Given the description of an element on the screen output the (x, y) to click on. 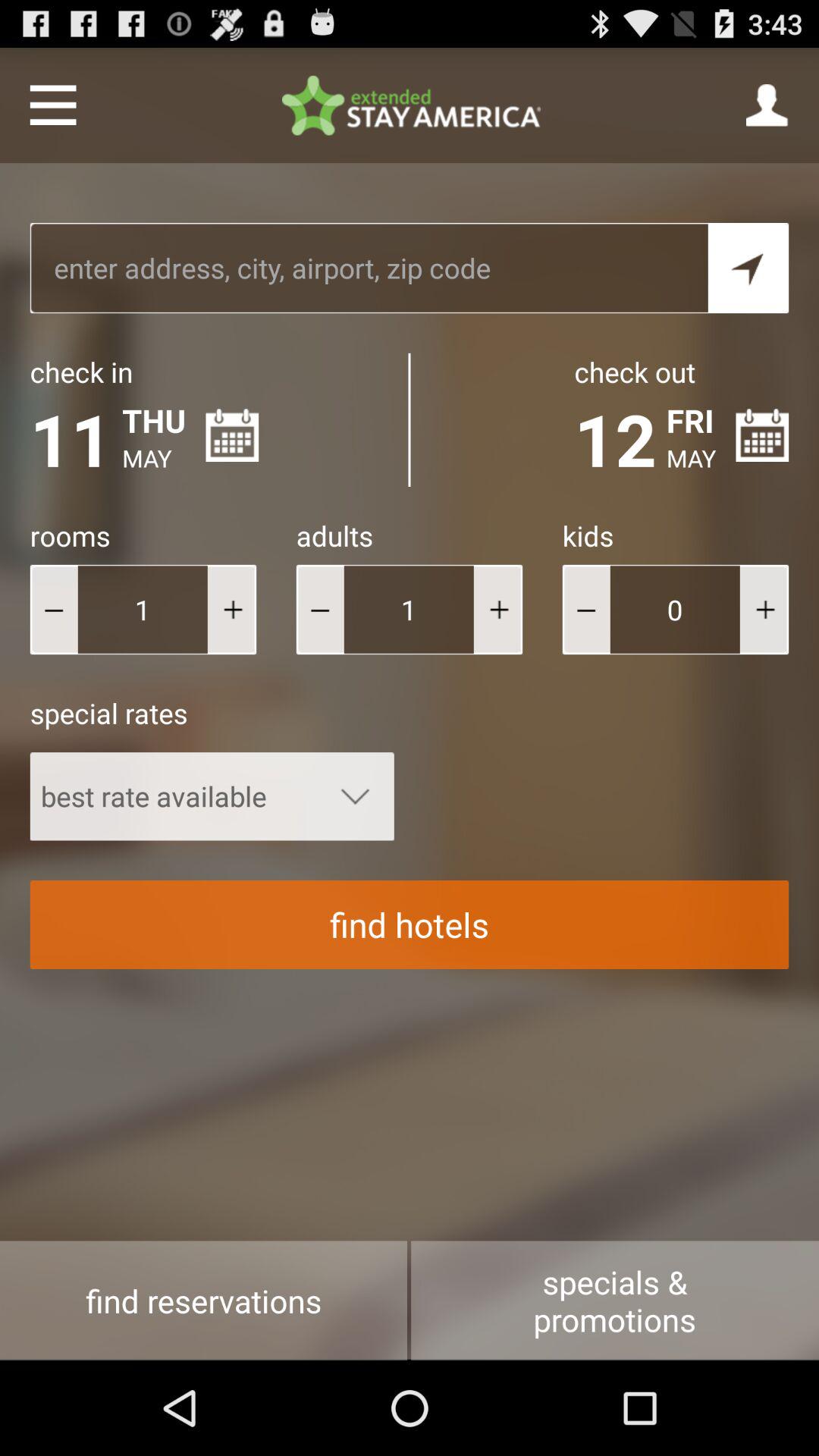
initiate search (748, 267)
